Given the description of an element on the screen output the (x, y) to click on. 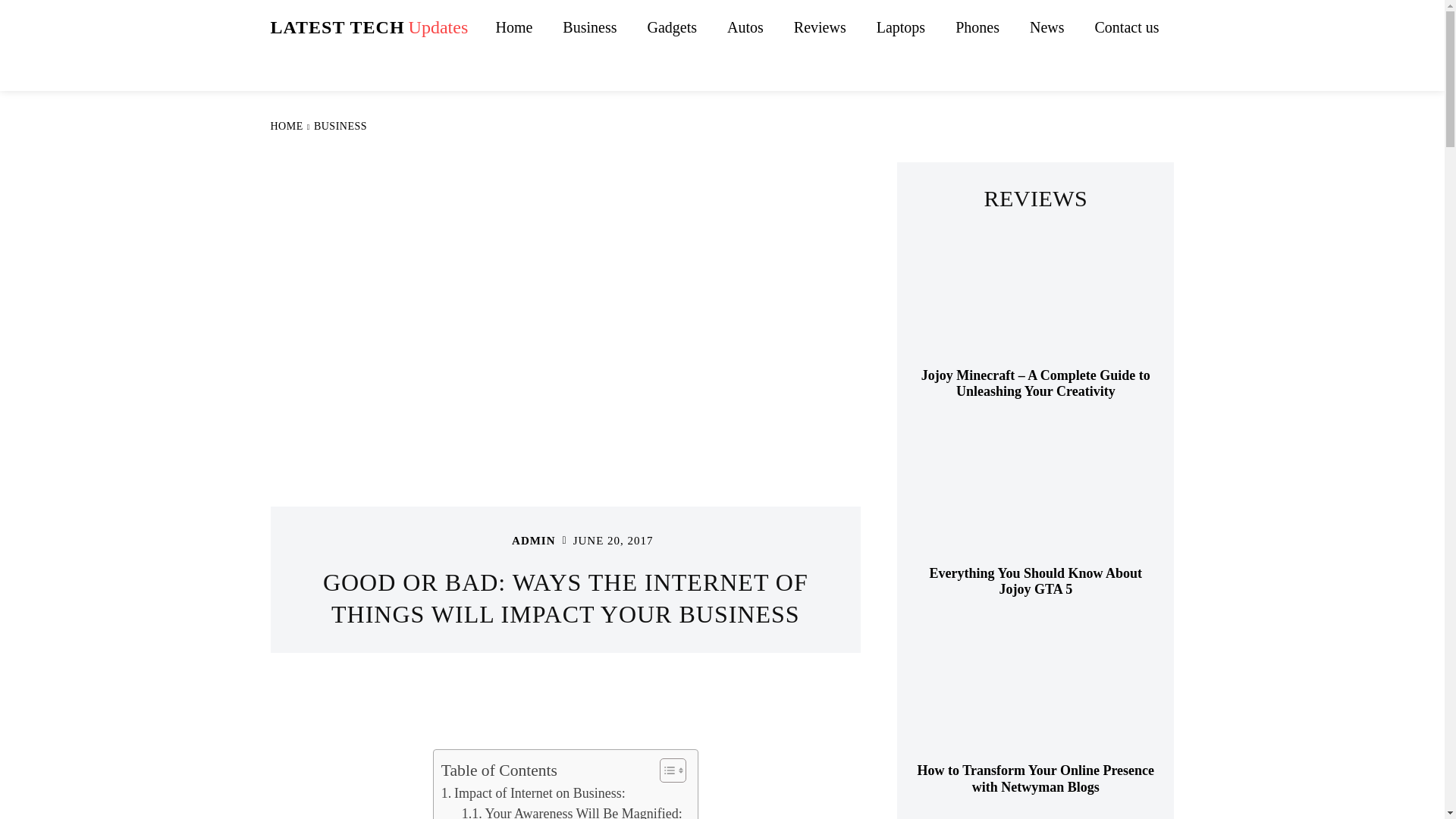
Autos (744, 27)
Business (368, 27)
Gadgets (589, 27)
Home (671, 27)
Your Awareness Will Be Magnified: (513, 27)
Reviews (571, 811)
Impact of Internet on Business: (819, 27)
Phones (533, 792)
View all posts in Business (977, 27)
